Given the description of an element on the screen output the (x, y) to click on. 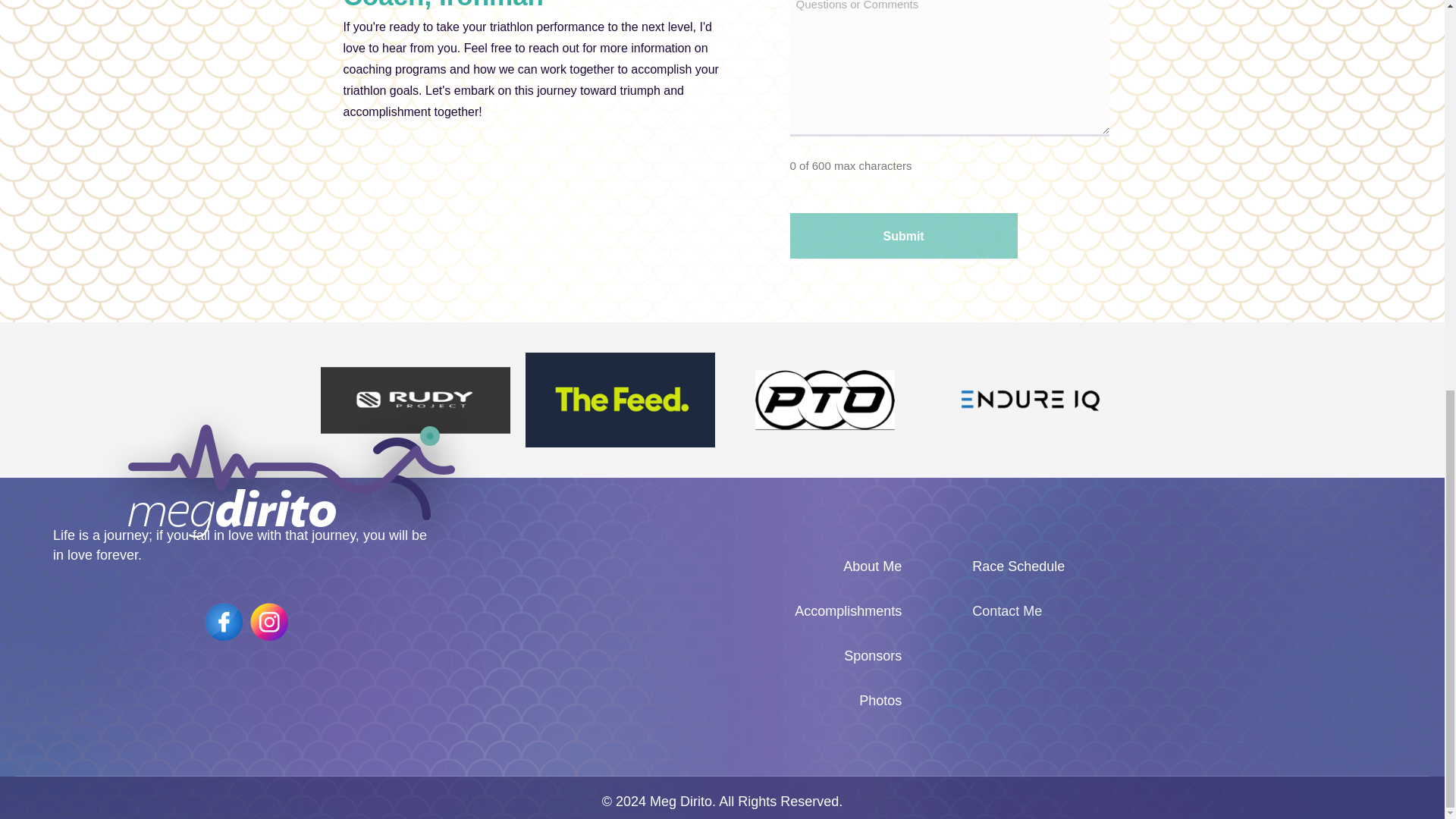
Race Schedule (1187, 566)
About Me (694, 566)
Submit (903, 235)
Photos (694, 700)
Submit (903, 235)
Accomplishments (694, 610)
MEGD (291, 480)
Sponsors (694, 655)
instagram (269, 621)
Contact Me (1187, 610)
facebook (224, 621)
